Given the description of an element on the screen output the (x, y) to click on. 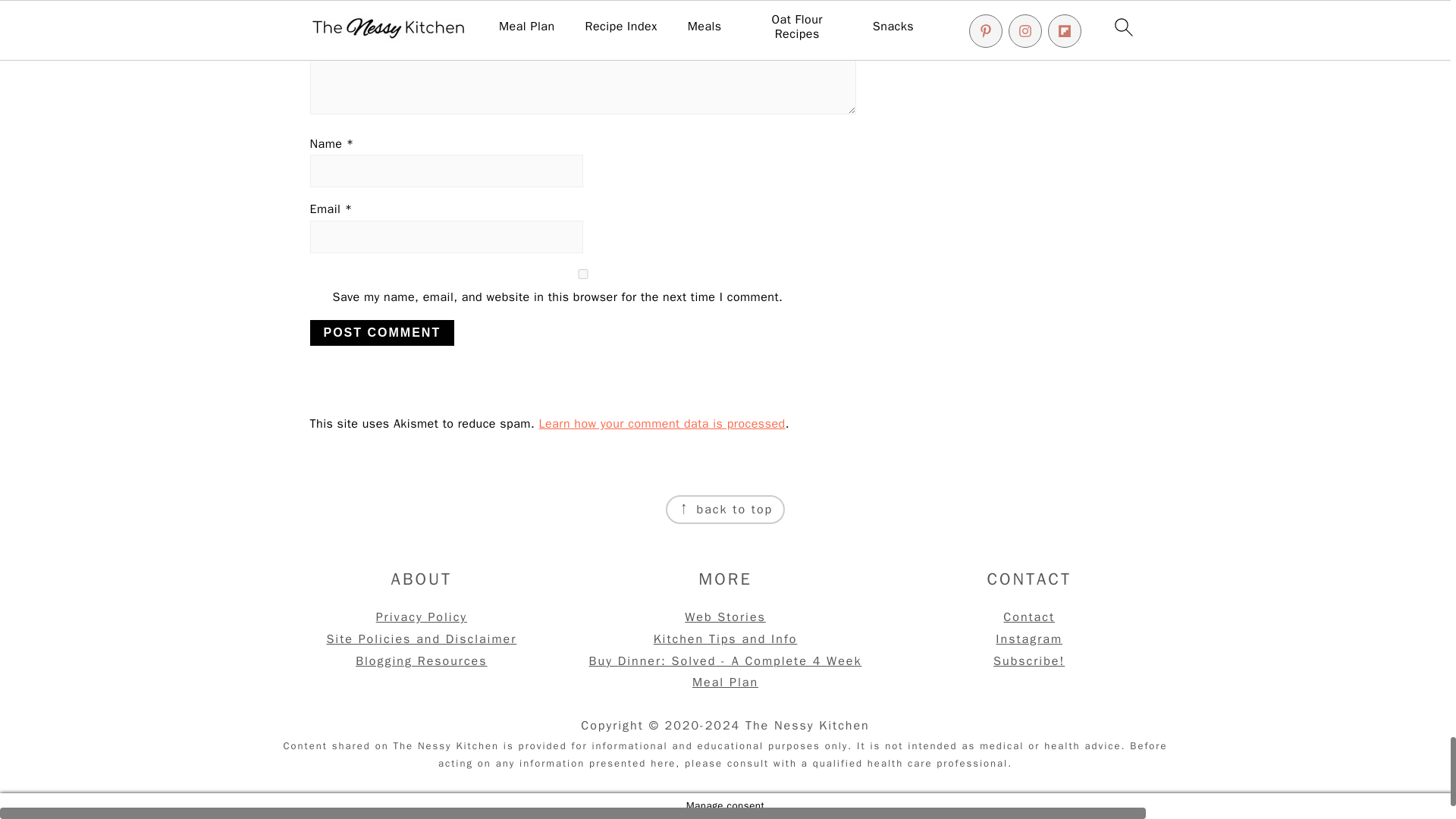
Post Comment (381, 332)
yes (582, 274)
